Given the description of an element on the screen output the (x, y) to click on. 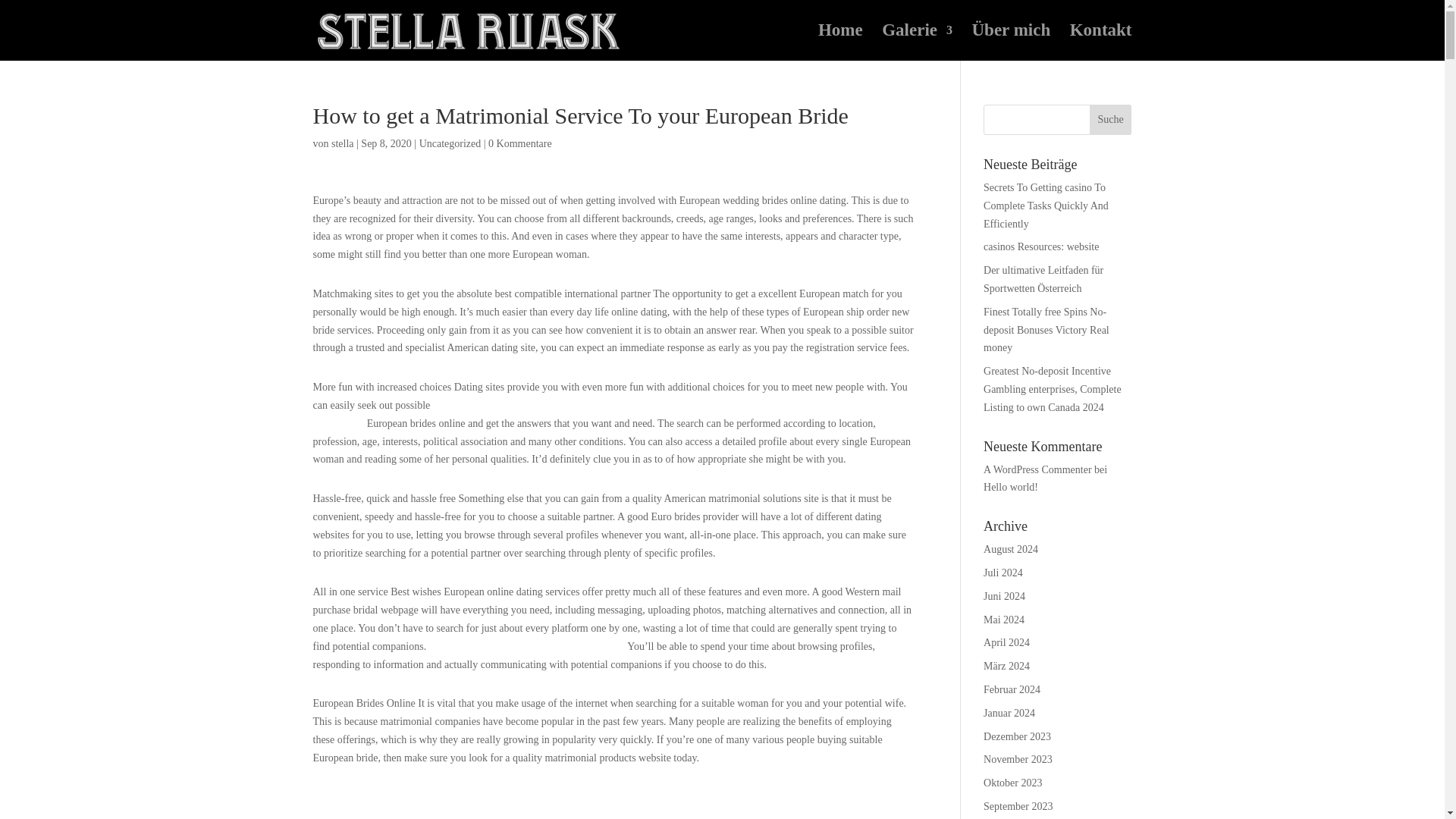
August 2024 (1011, 549)
stella (342, 143)
casinos Resources: website (1041, 246)
April 2024 (1006, 642)
September 2023 (1018, 806)
Februar 2024 (1012, 689)
Suche (1110, 119)
Januar 2024 (1009, 713)
Juli 2024 (1003, 572)
